Given the description of an element on the screen output the (x, y) to click on. 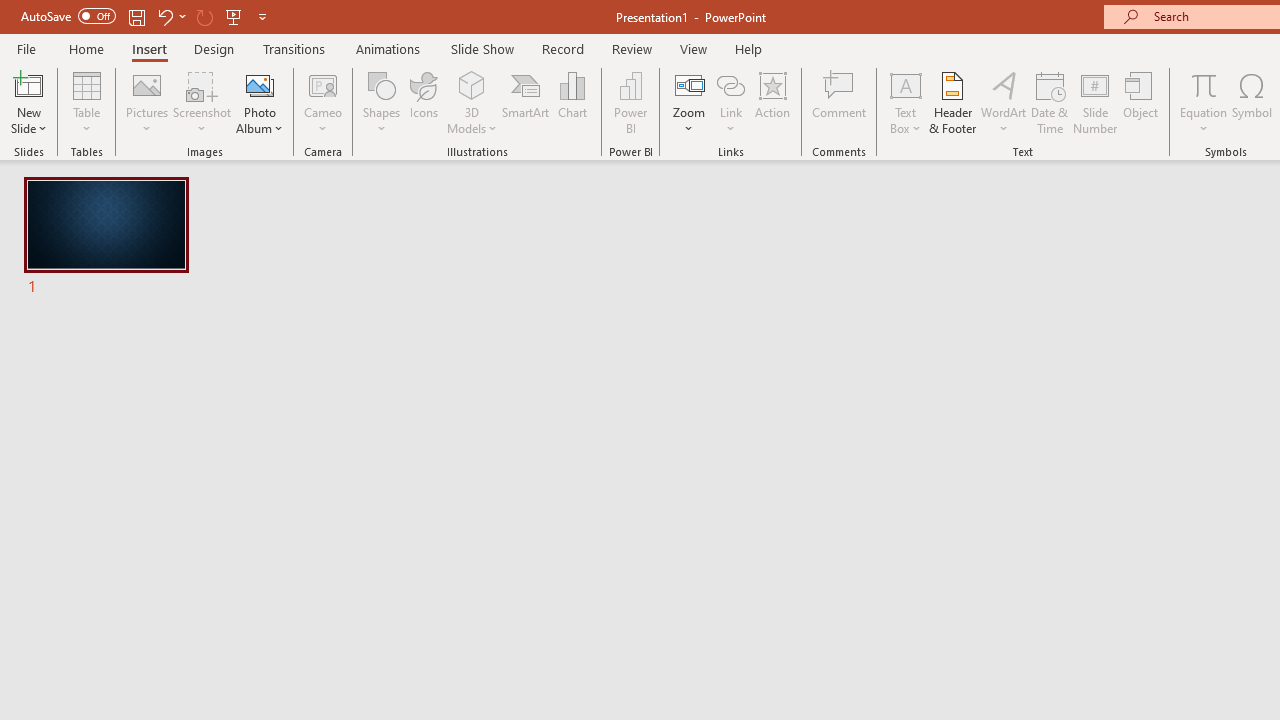
Header & Footer... (952, 102)
Shapes (381, 102)
3D Models (472, 102)
Date & Time... (1050, 102)
Link (731, 102)
Photo Album... (259, 102)
